Given the description of an element on the screen output the (x, y) to click on. 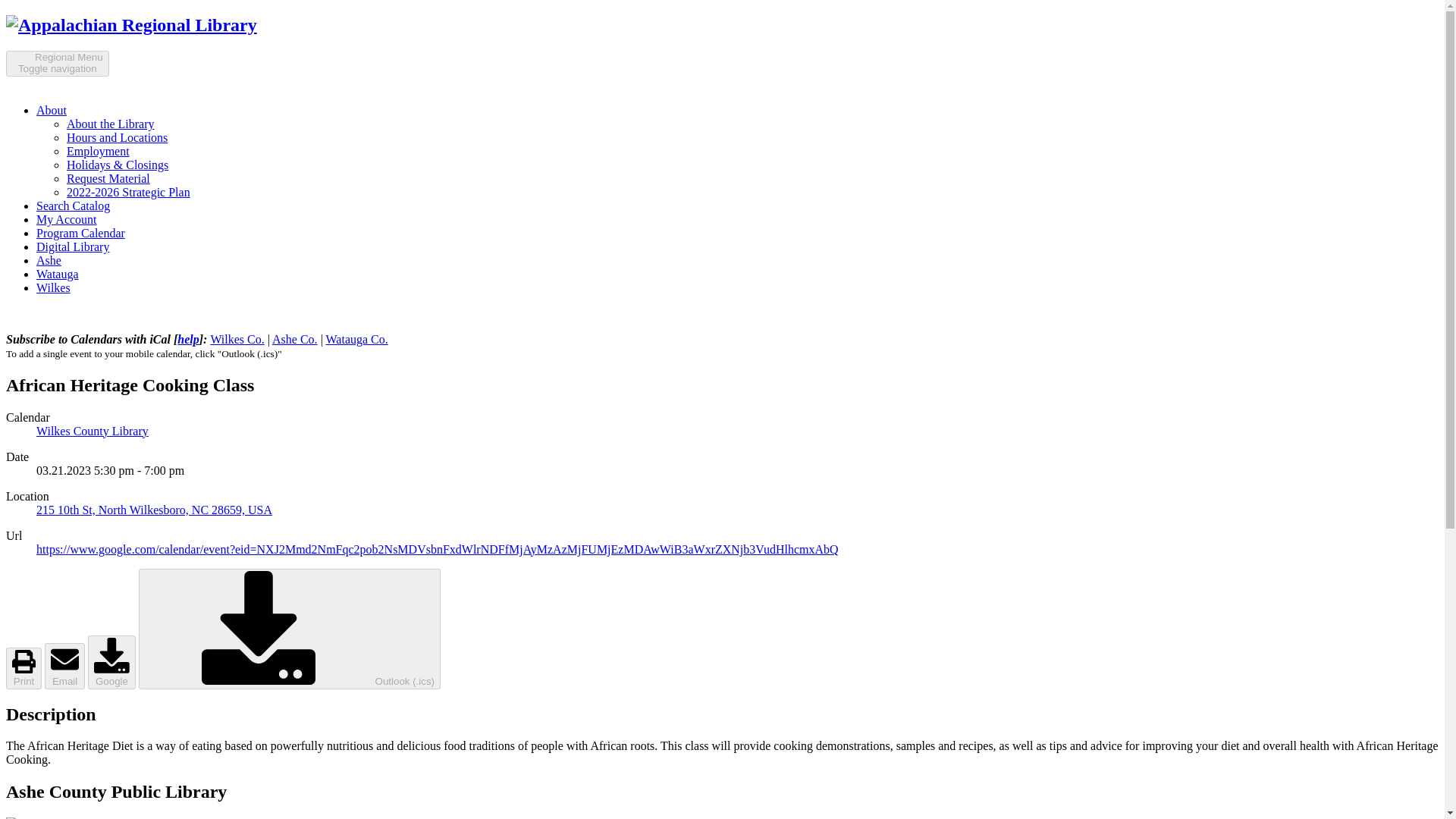
help (187, 338)
Digital Library (72, 246)
Watauga Co. (357, 338)
Wilkes (52, 287)
215 10th St, North Wilkesboro, NC 28659, USA (154, 509)
Wilkes Co. (236, 338)
About the Library (110, 123)
About (51, 110)
Hours and Locations (57, 63)
2022-2026 Strategic Plan (116, 137)
Watauga (128, 192)
Ashe (57, 273)
Appalachian Regional Library (48, 259)
Request Material (131, 25)
